Given the description of an element on the screen output the (x, y) to click on. 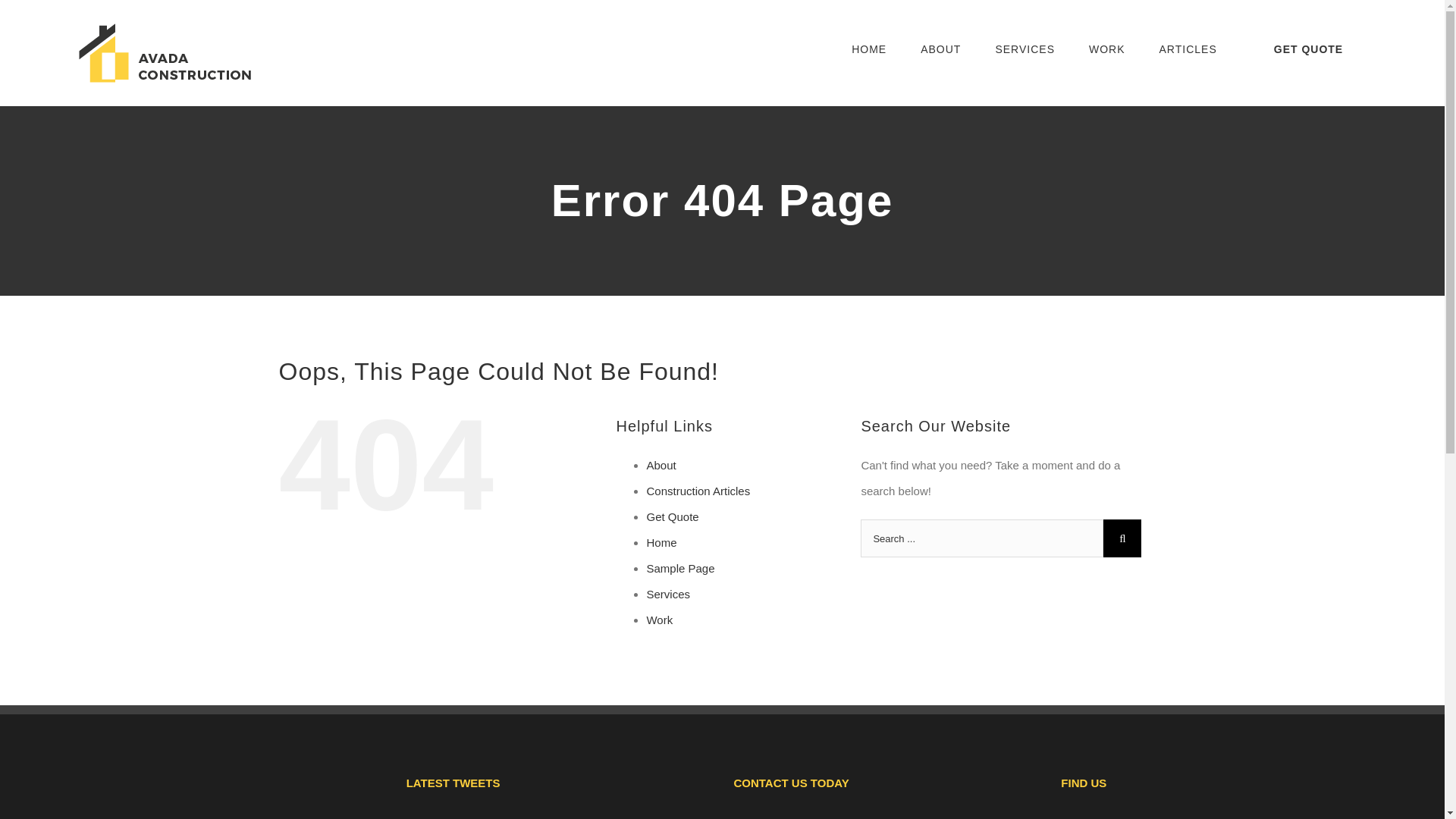
Get Quote (672, 516)
Services (668, 594)
Home (661, 542)
Construction Articles (697, 490)
About (660, 464)
Work (659, 619)
GET QUOTE (1307, 49)
Sample Page (680, 567)
